Given the description of an element on the screen output the (x, y) to click on. 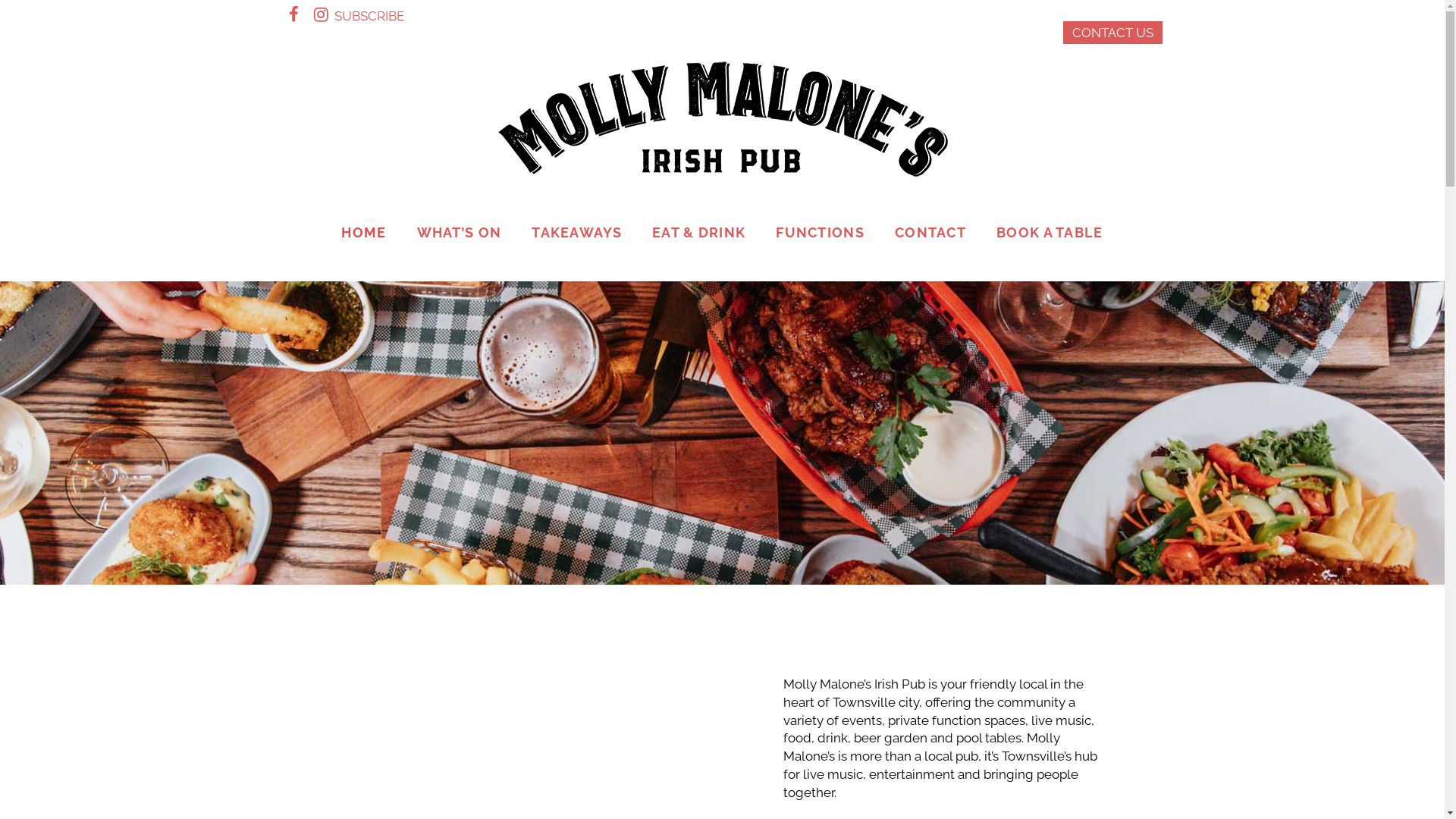
HOME Element type: text (363, 232)
FUNCTIONS Element type: text (820, 232)
SUBSCRIBE Element type: text (368, 15)
Molly Malone's Irish Pub Element type: hover (721, 121)
TAKEAWAYS Element type: text (576, 232)
CONTACT Element type: text (930, 232)
EAT & DRINK Element type: text (698, 232)
CONTACT US Element type: text (1112, 32)
BOOK A TABLE Element type: text (1049, 232)
